Given the description of an element on the screen output the (x, y) to click on. 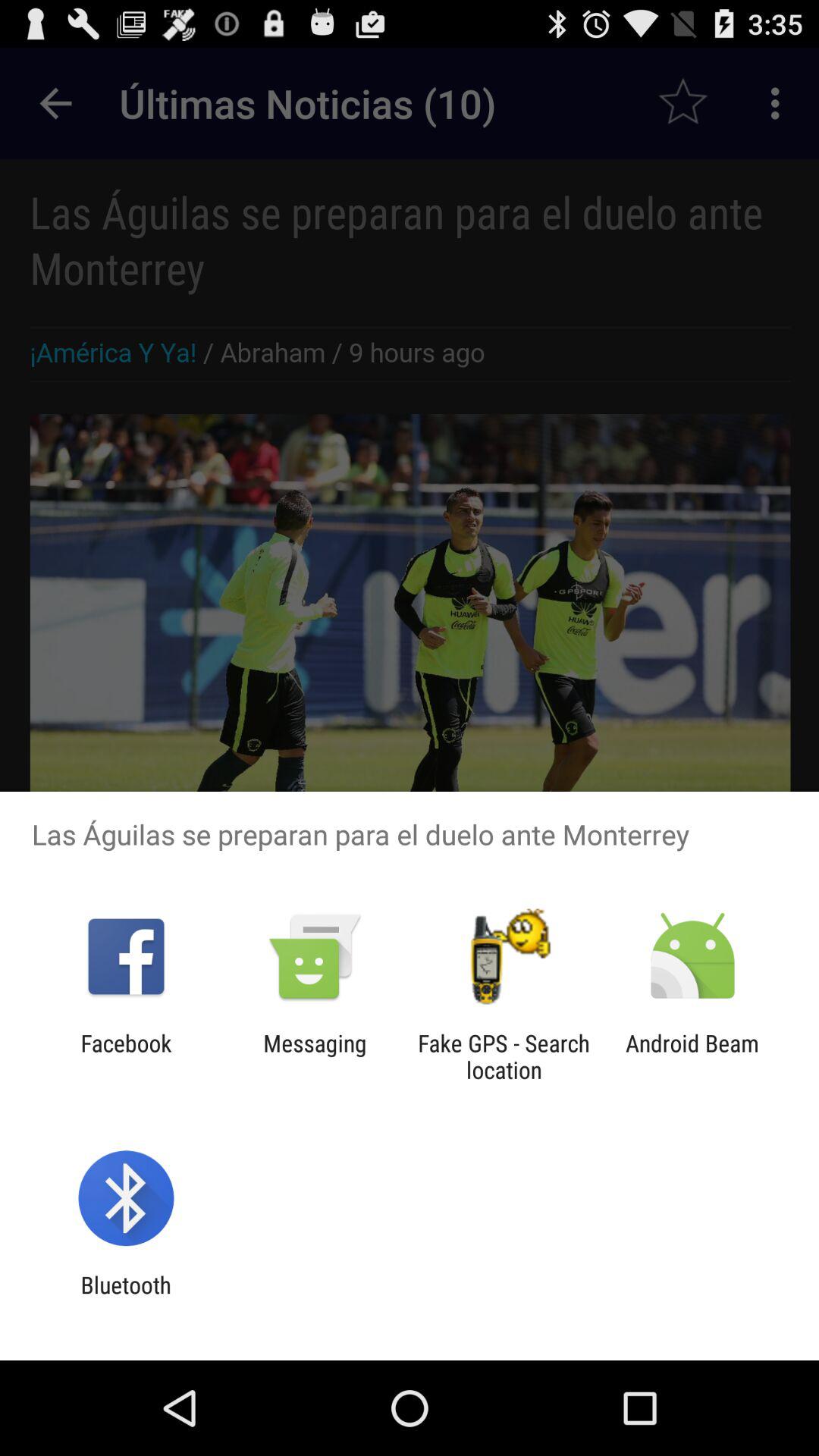
choose app next to messaging (503, 1056)
